Given the description of an element on the screen output the (x, y) to click on. 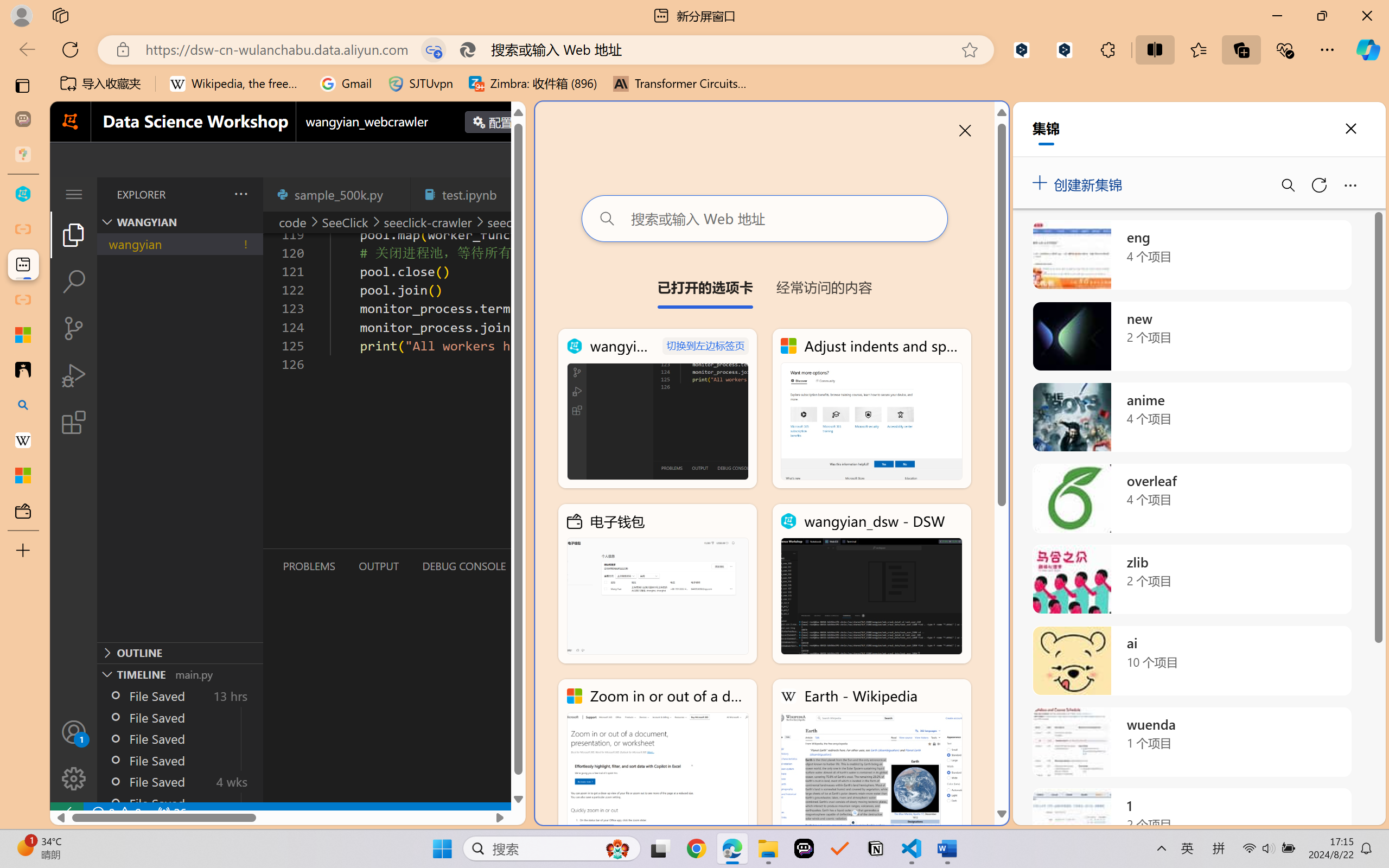
Explorer Section: wangyian (179, 221)
Class: menubar compact overflow-menu-only (73, 194)
remote (66, 812)
Explorer (Ctrl+Shift+E) (73, 234)
Adjust indents and spacing - Microsoft Support (871, 408)
Earth - Wikipedia (871, 758)
SJTUvpn (419, 83)
Output (Ctrl+Shift+U) (377, 565)
